Given the description of an element on the screen output the (x, y) to click on. 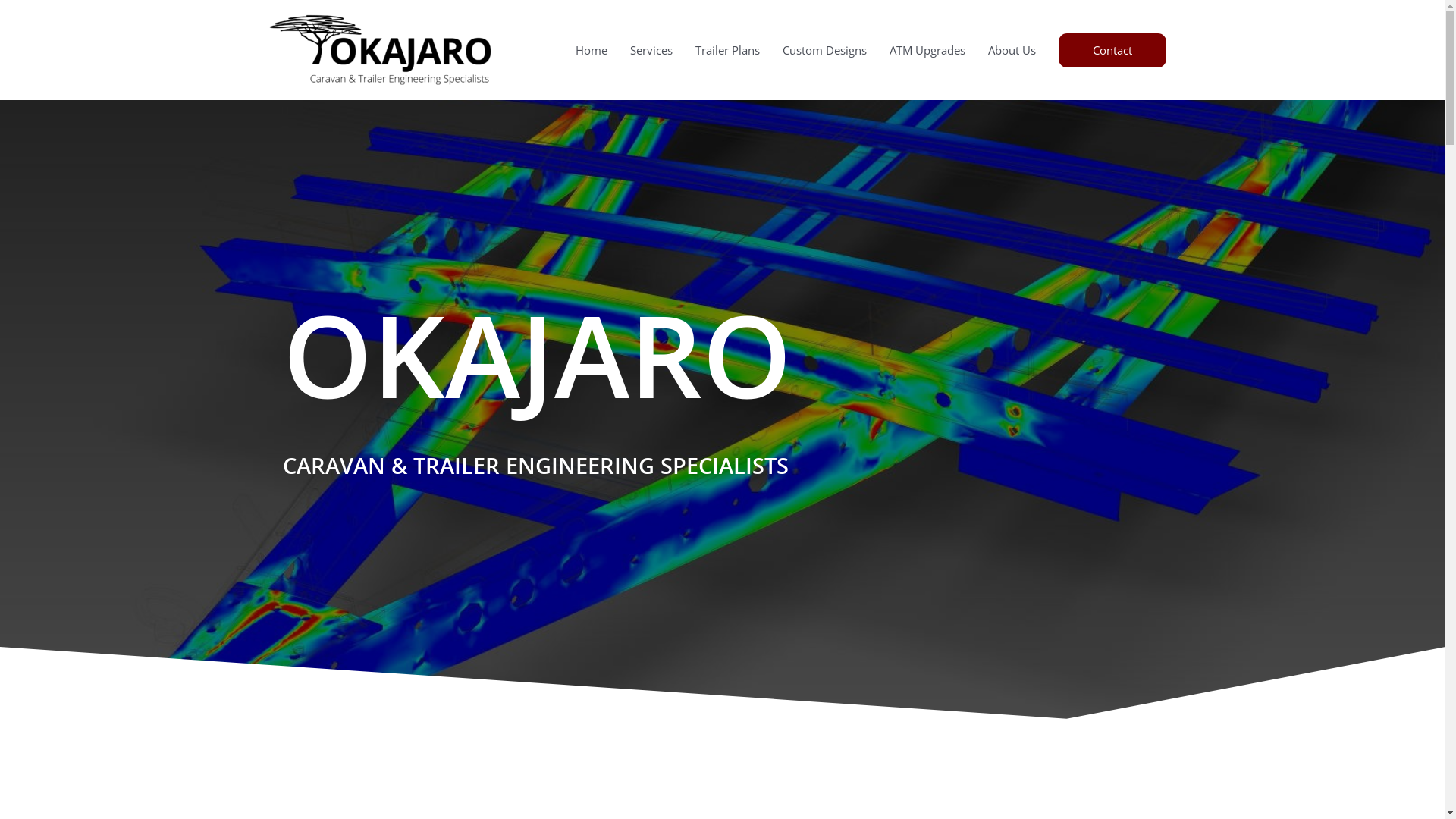
ATM Upgrades Element type: text (927, 49)
About Us Element type: text (1011, 49)
Home Element type: text (591, 49)
Services Element type: text (651, 49)
Custom Designs Element type: text (823, 49)
Contact Element type: text (1112, 50)
Trailer Plans Element type: text (727, 49)
